Given the description of an element on the screen output the (x, y) to click on. 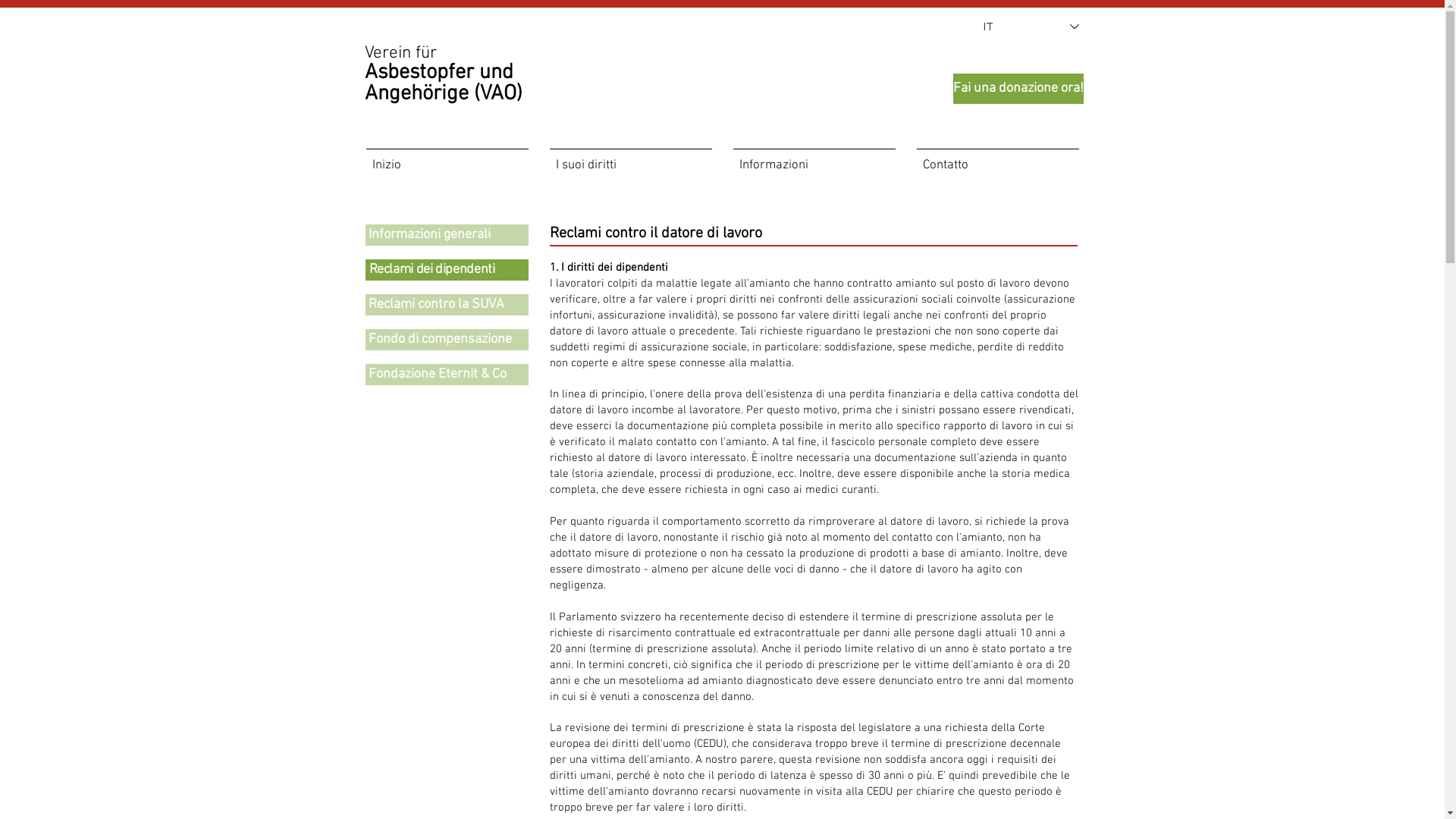
Fondazione Eternit & Co Element type: text (446, 374)
Inizio Element type: text (446, 158)
Fondo di compensazione Element type: text (446, 339)
Informazioni generali Element type: text (446, 234)
Reclami contro la SUVA Element type: text (446, 304)
Fai una donazione ora! Element type: text (1017, 88)
Contatto Element type: text (996, 158)
Site Search Element type: hover (1012, 125)
